Given the description of an element on the screen output the (x, y) to click on. 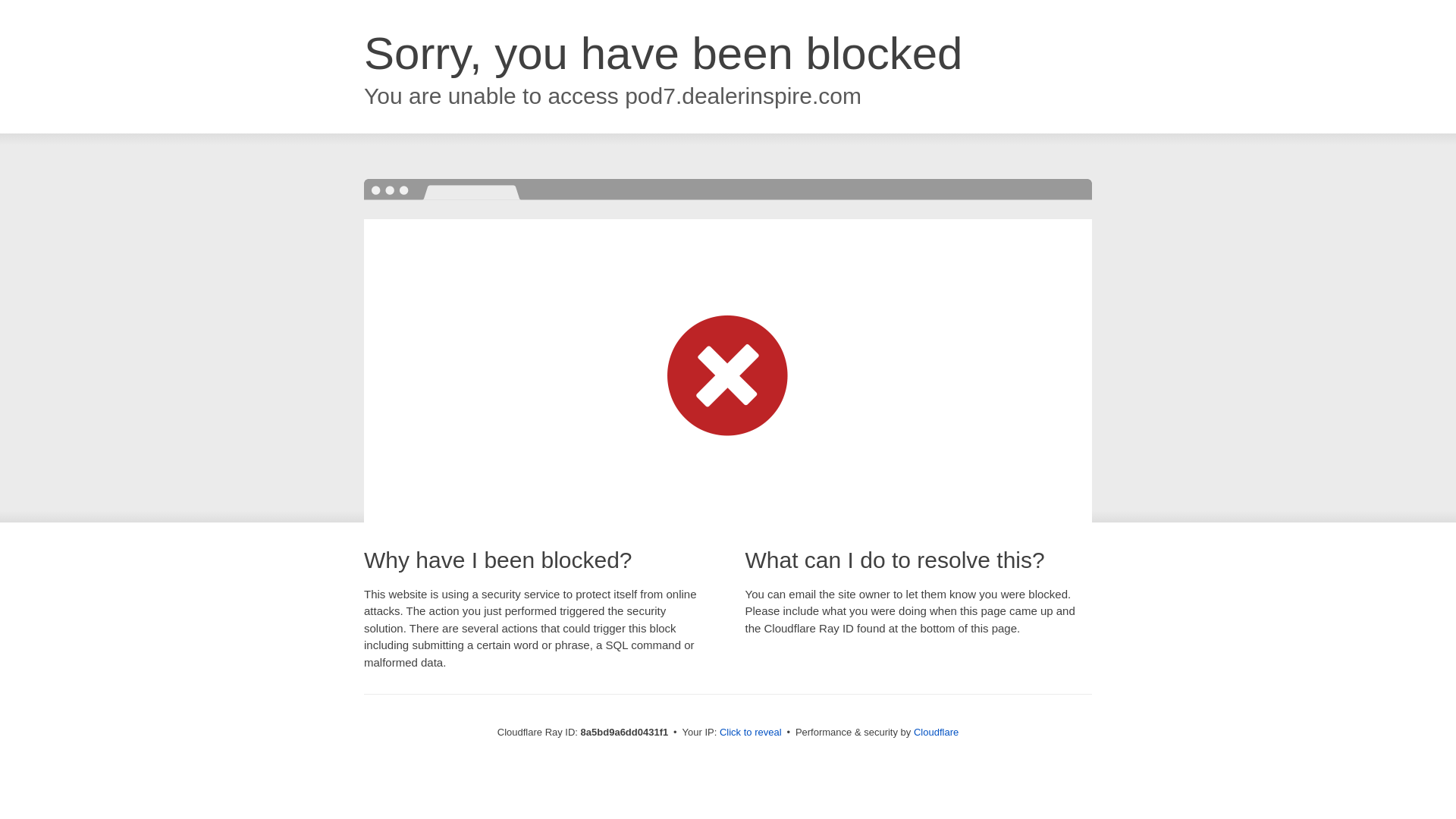
Click to reveal (750, 732)
Cloudflare (936, 731)
